Given the description of an element on the screen output the (x, y) to click on. 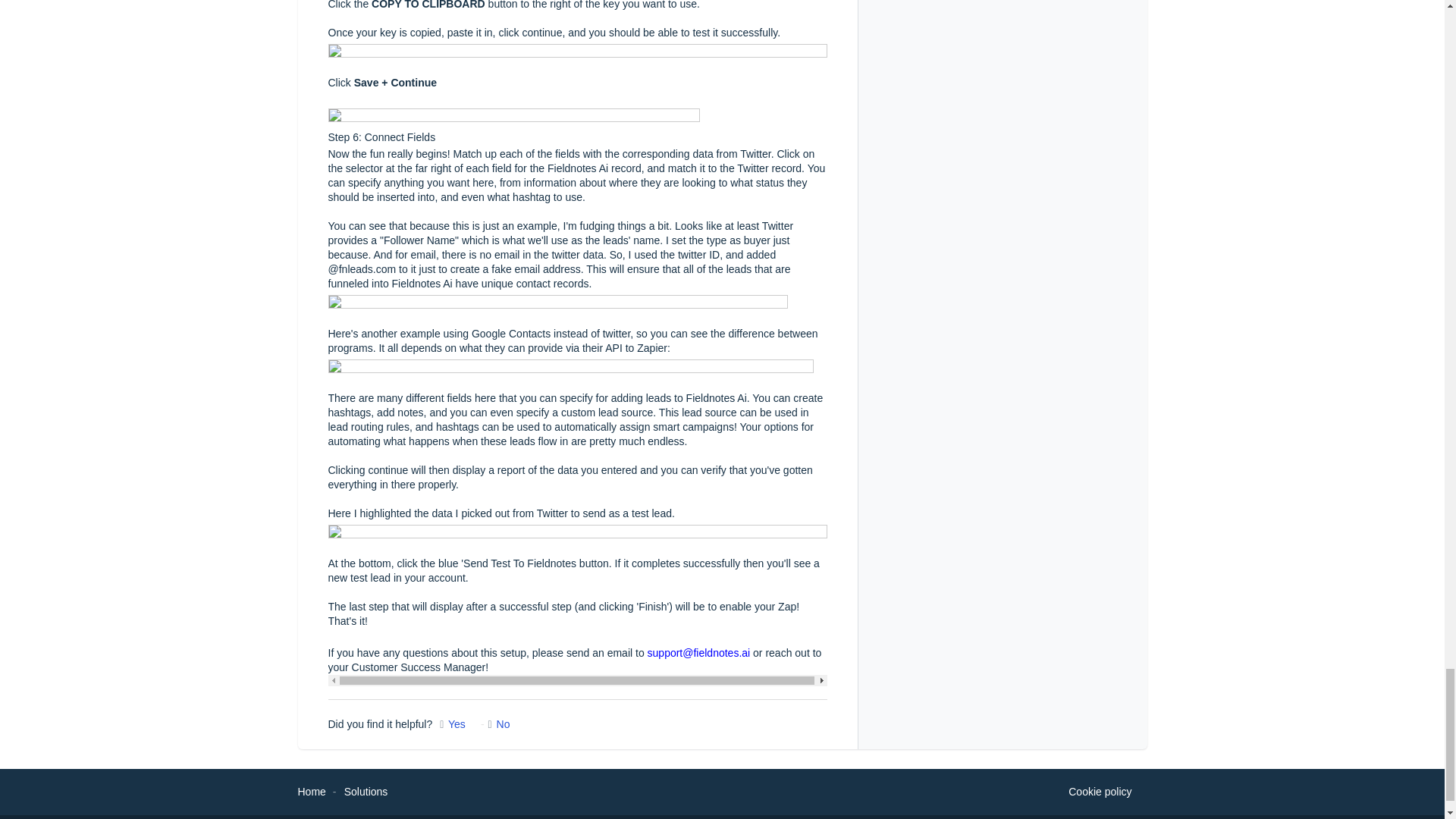
Why we love Cookies (1099, 791)
Cookie policy (1099, 791)
Home (310, 791)
Solutions (365, 791)
